Given the description of an element on the screen output the (x, y) to click on. 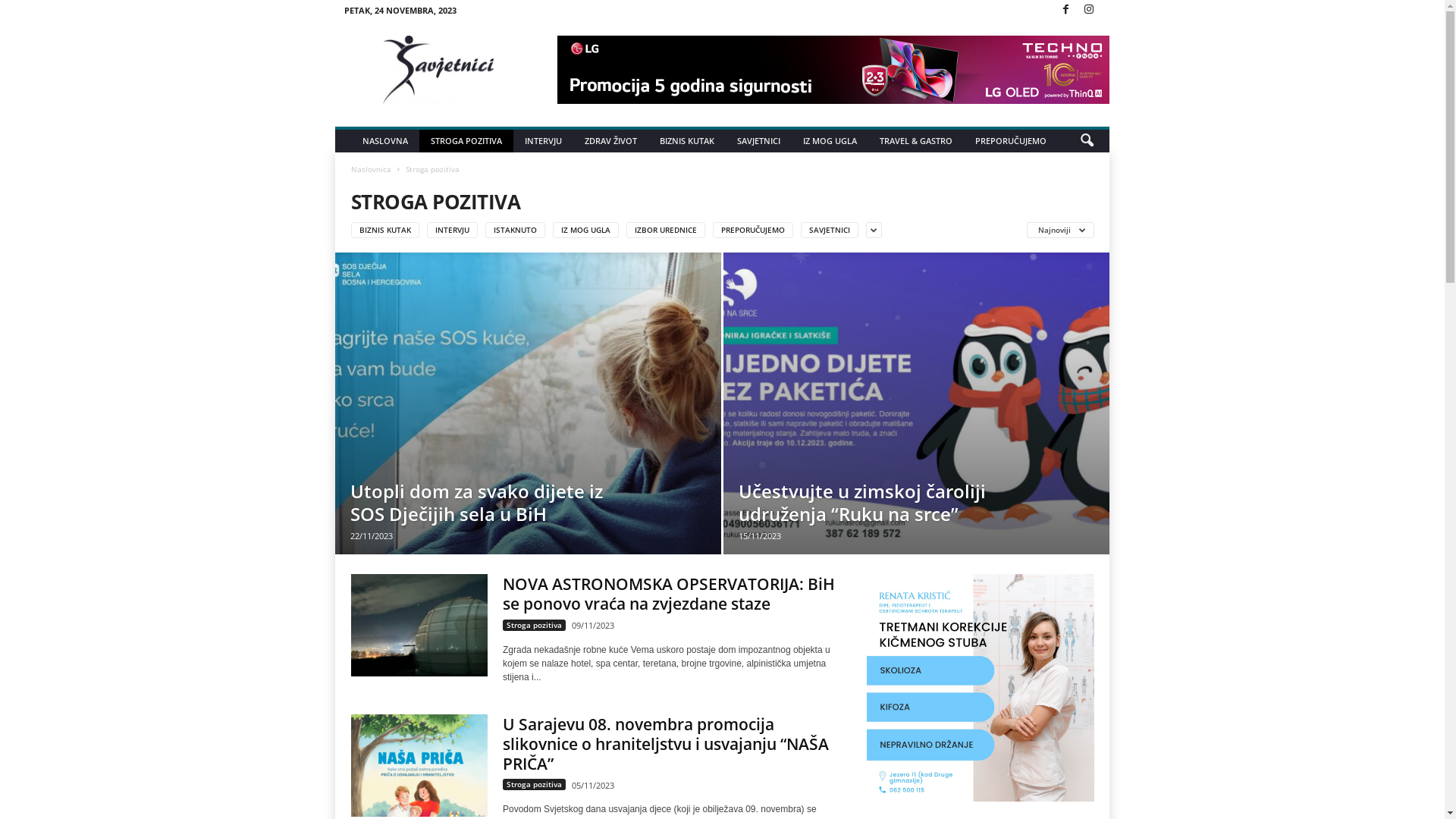
SAVJETNICI Element type: text (829, 229)
Facebook Element type: hover (1065, 10)
IZ MOG UGLA Element type: text (829, 140)
TRAVEL & GASTRO Element type: text (915, 140)
BIZNIS KUTAK Element type: text (686, 140)
NASLOVNA Element type: text (385, 140)
BIZNIS KUTAK Element type: text (385, 229)
Savjetnici Element type: text (438, 69)
Stroga pozitiva Element type: text (533, 624)
IZBOR UREDNICE Element type: text (665, 229)
ISTAKNUTO Element type: text (515, 229)
IZ MOG UGLA Element type: text (585, 229)
Stroga pozitiva Element type: text (533, 784)
INTERVJU Element type: text (451, 229)
SAVJETNICI Element type: text (758, 140)
INTERVJU Element type: text (543, 140)
Instagram Element type: hover (1088, 10)
Naslovnica Element type: text (371, 168)
STROGA POZITIVA Element type: text (466, 140)
